Given the description of an element on the screen output the (x, y) to click on. 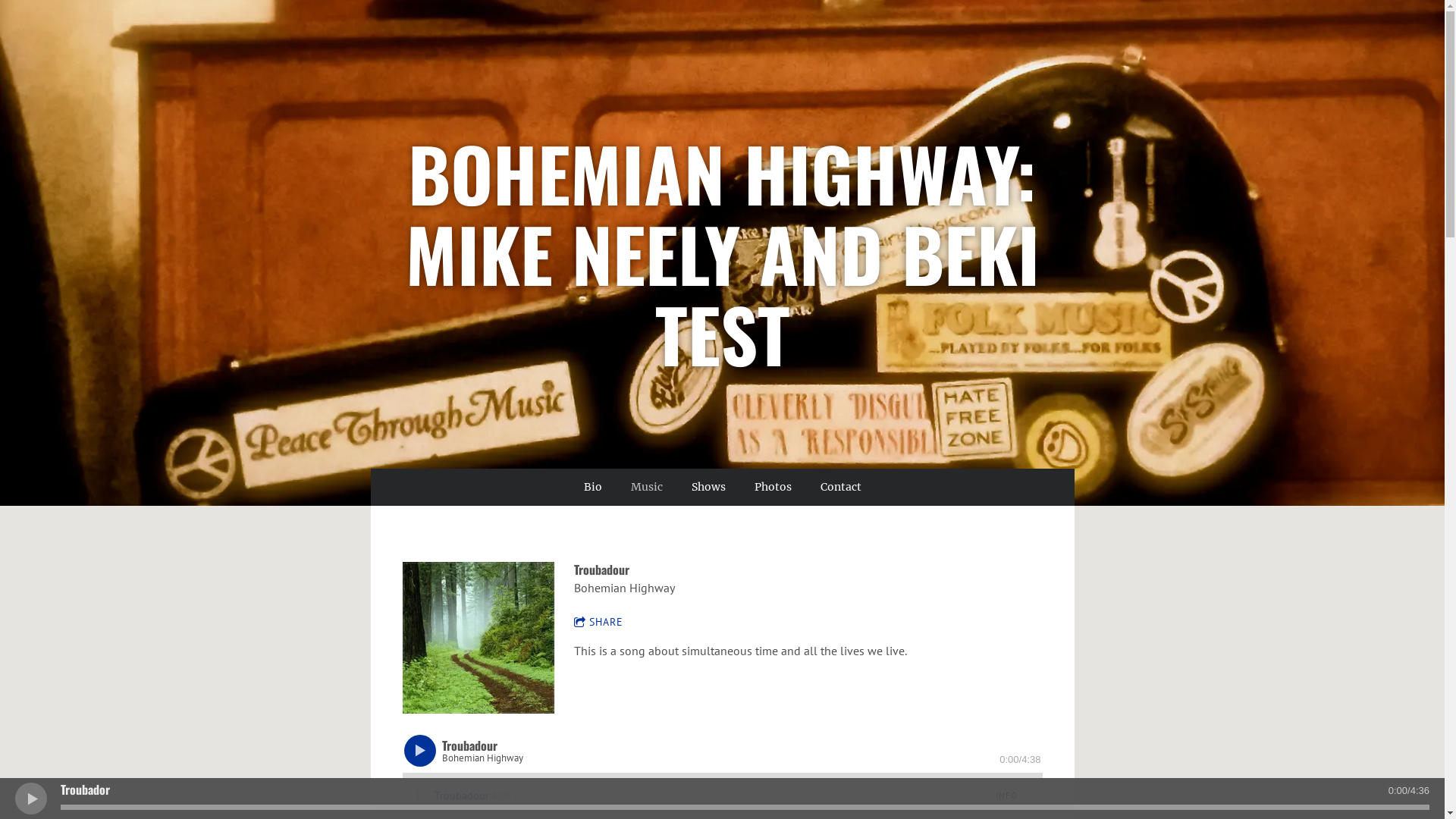
Troubadour Element type: text (460, 795)
BOHEMIAN HIGHWAY: MIKE NEELY AND BEKI TEST Element type: text (721, 358)
Photos Element type: text (772, 486)
SHARE Element type: text (605, 622)
Bio Element type: text (592, 486)
Play Element type: hover (30, 797)
INFO Element type: text (1005, 795)
Play Element type: hover (419, 750)
Troubadour Element type: hover (477, 637)
Shows Element type: text (708, 486)
Music Element type: text (646, 486)
Contact Element type: text (840, 486)
